Given the description of an element on the screen output the (x, y) to click on. 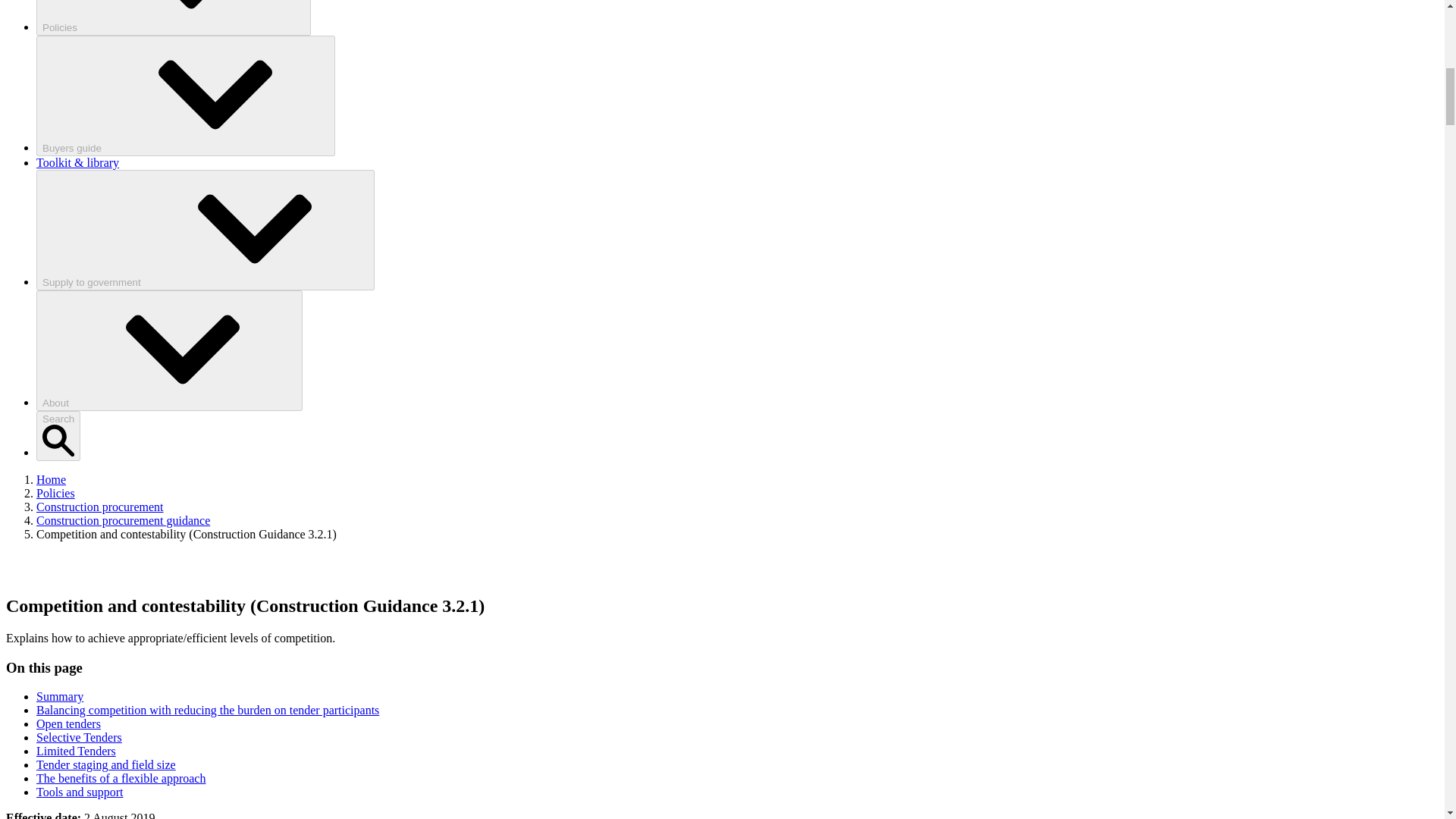
The benefits of a flexible approach (120, 778)
Home (50, 479)
Limited Tenders (76, 750)
Tender staging and field size (106, 764)
Construction procurement guidance (122, 520)
Open tenders (68, 723)
Construction procurement (99, 506)
Selective Tenders (79, 737)
Summary (59, 696)
Tools and support (79, 791)
Policies (55, 492)
